Given the description of an element on the screen output the (x, y) to click on. 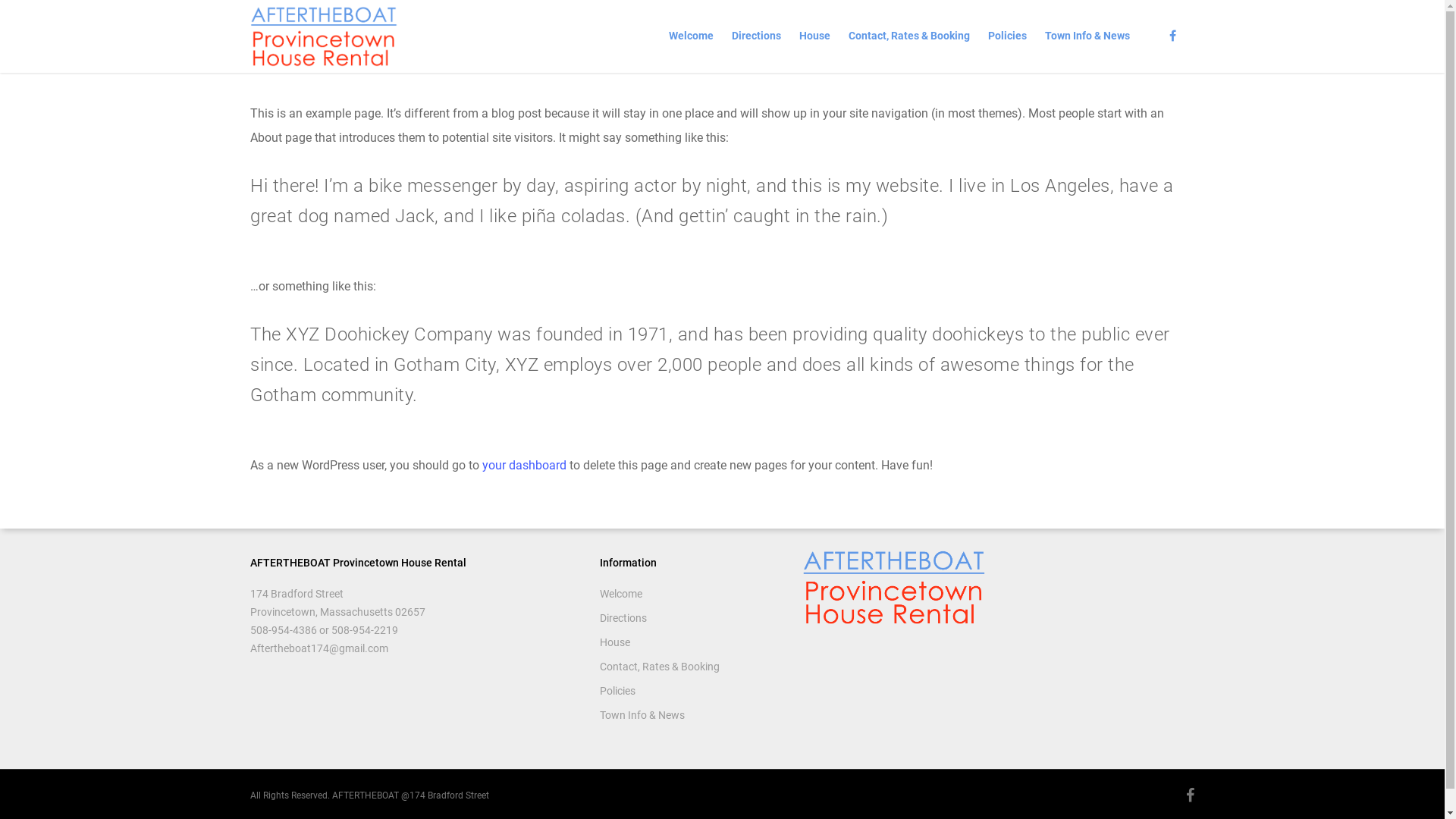
Policies Element type: text (1007, 39)
Welcome Element type: text (691, 593)
Contact, Rates & Booking Element type: text (691, 666)
House Element type: text (814, 39)
Contact, Rates & Booking Element type: text (908, 39)
your dashboard Element type: text (524, 465)
Town Info & News Element type: text (691, 715)
Directions Element type: text (756, 39)
Policies Element type: text (691, 690)
House Element type: text (691, 642)
Town Info & News Element type: text (1086, 39)
Directions Element type: text (691, 617)
Aftertheboat174@gmail.com Element type: text (319, 648)
Welcome Element type: text (690, 39)
